Given the description of an element on the screen output the (x, y) to click on. 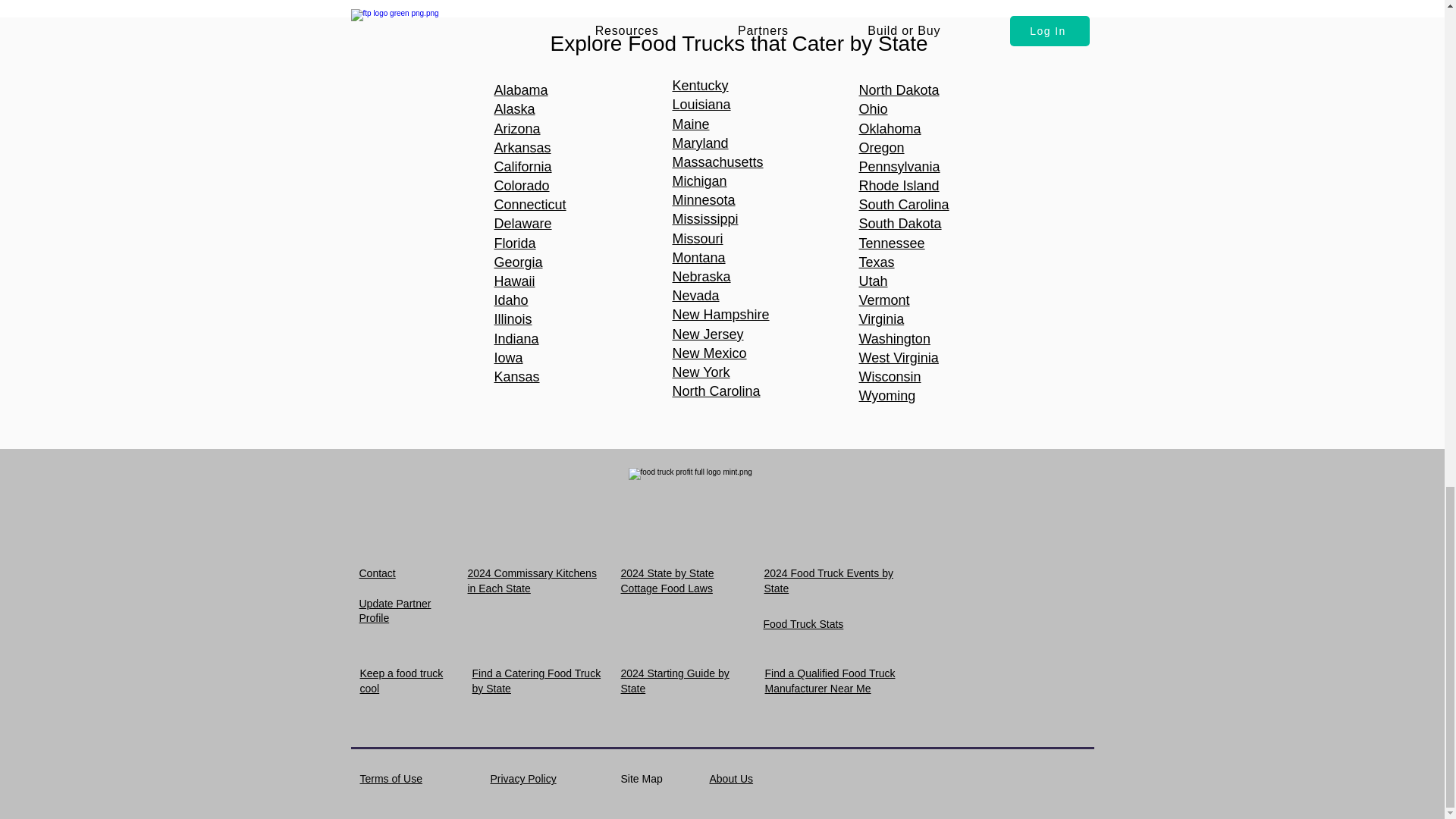
Georgia (519, 262)
Connecticut (530, 204)
Mississippi (704, 218)
Arizona (517, 127)
California (523, 166)
Massachusetts (716, 161)
Alabama (521, 89)
Alaska (515, 109)
Delaware (523, 223)
Kentucky (699, 85)
